Given the description of an element on the screen output the (x, y) to click on. 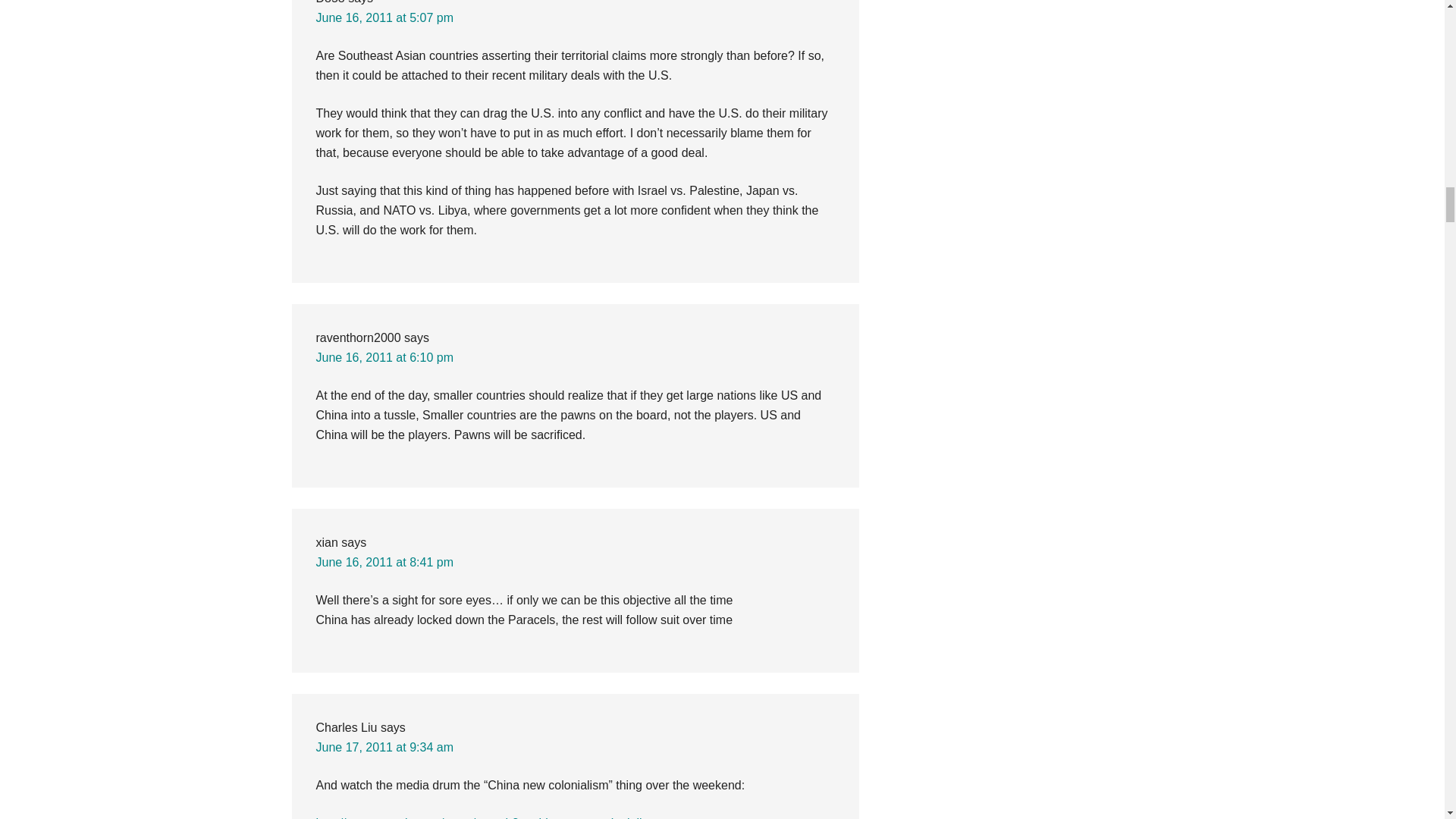
June 17, 2011 at 9:34 am (383, 747)
June 16, 2011 at 8:41 pm (383, 562)
June 16, 2011 at 6:10 pm (383, 357)
June 16, 2011 at 5:07 pm (383, 17)
